Given the description of an element on the screen output the (x, y) to click on. 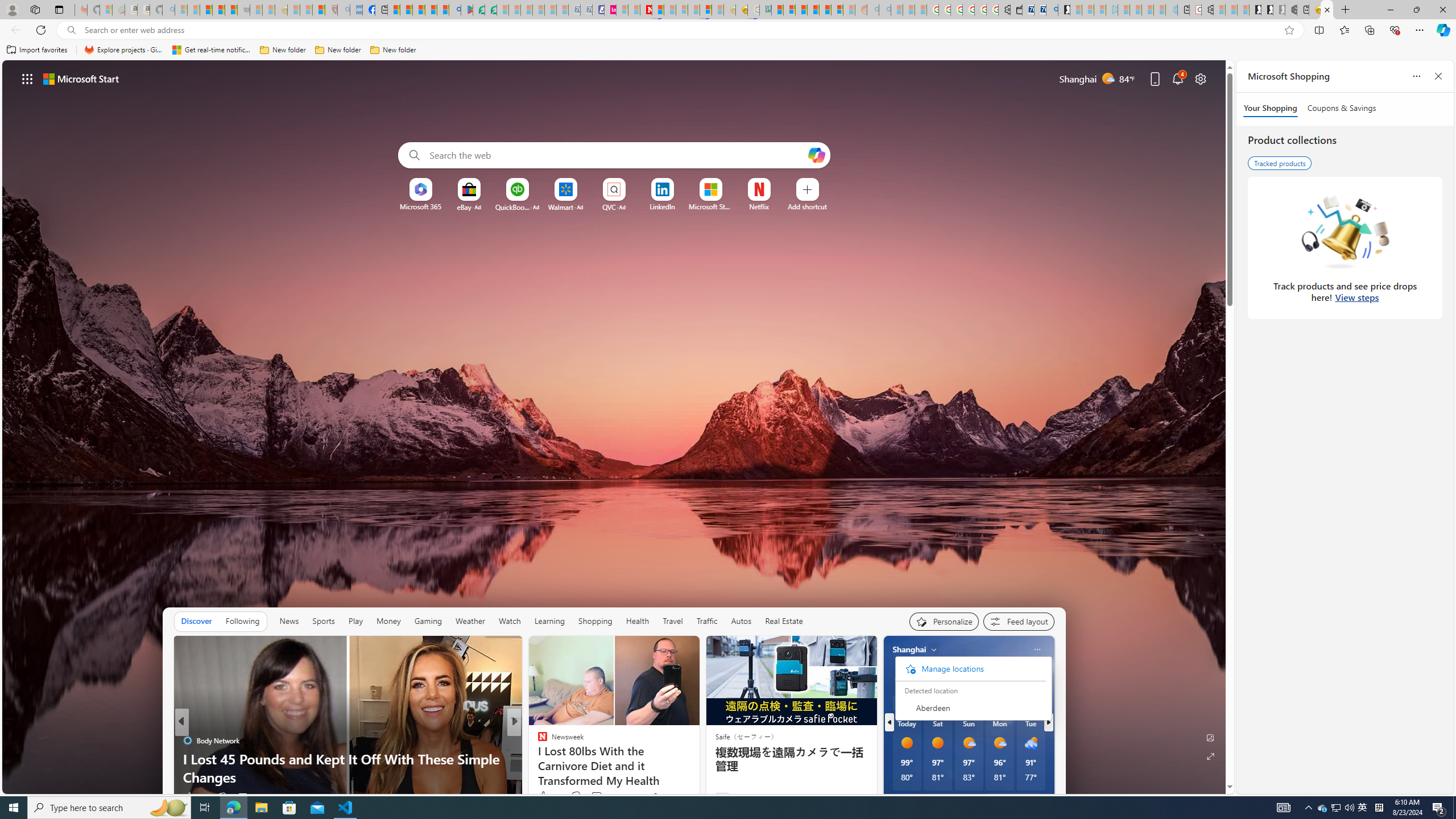
Money (388, 621)
Terms of Use Agreement (478, 9)
Learning (549, 621)
Shopping (594, 621)
Autos (740, 621)
Microsoft Start - Sleeping (1147, 9)
